Given the description of an element on the screen output the (x, y) to click on. 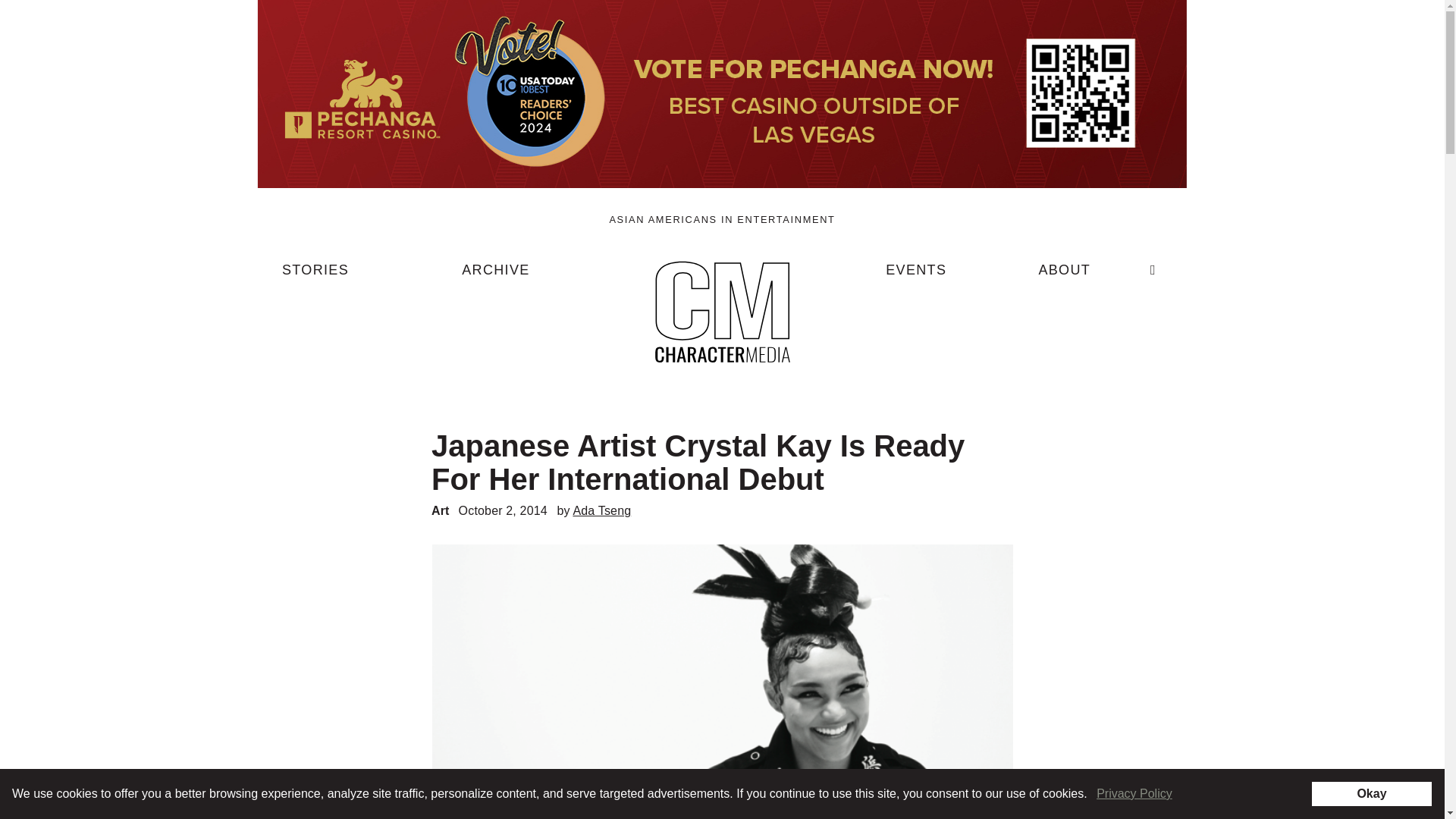
Ada Tseng (601, 510)
Art (439, 510)
EVENTS (915, 276)
ARCHIVE (495, 276)
ABOUT (1064, 276)
STORIES (315, 276)
